Given the description of an element on the screen output the (x, y) to click on. 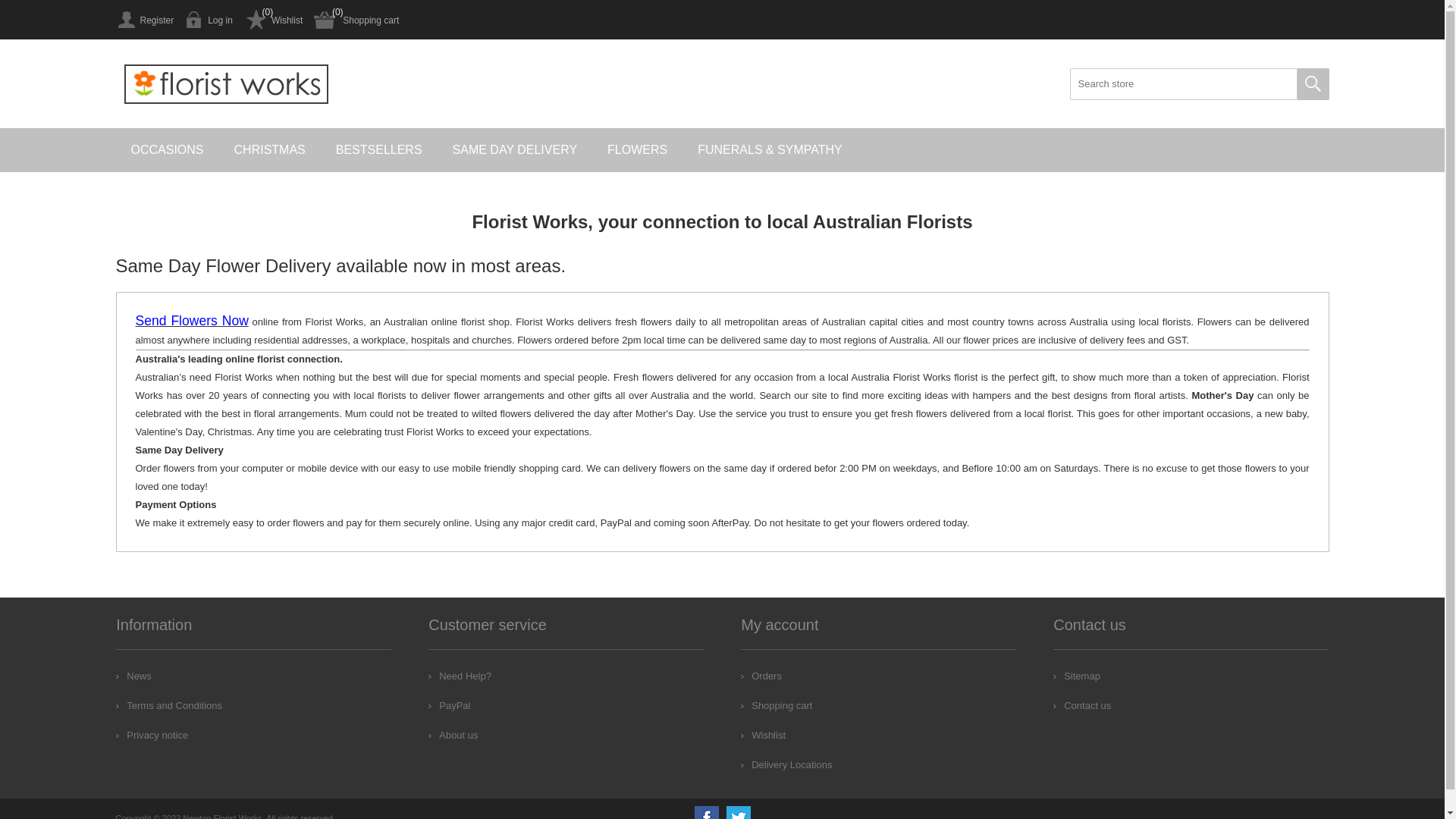
Contact us Element type: text (1081, 705)
FUNERALS & SYMPATHY Element type: text (769, 150)
Register Element type: text (144, 19)
Send Flowers Now Element type: text (190, 321)
Wishlist Element type: text (273, 19)
Shopping cart Element type: text (776, 705)
OCCASIONS Element type: text (166, 150)
CHRISTMAS Element type: text (269, 150)
Delivery Locations Element type: text (785, 764)
Need Help? Element type: text (459, 675)
News Element type: text (133, 675)
SAME DAY DELIVERY Element type: text (515, 150)
FLOWERS Element type: text (637, 150)
Wishlist Element type: text (762, 734)
Sitemap Element type: text (1076, 675)
Log in Element type: text (208, 19)
BESTSELLERS Element type: text (378, 150)
Terms and Conditions Element type: text (169, 705)
Search Element type: text (1312, 84)
About us Element type: text (452, 734)
Privacy notice Element type: text (152, 734)
PayPal Element type: text (449, 705)
Shopping cart Element type: text (355, 19)
Orders Element type: text (760, 675)
